Given the description of an element on the screen output the (x, y) to click on. 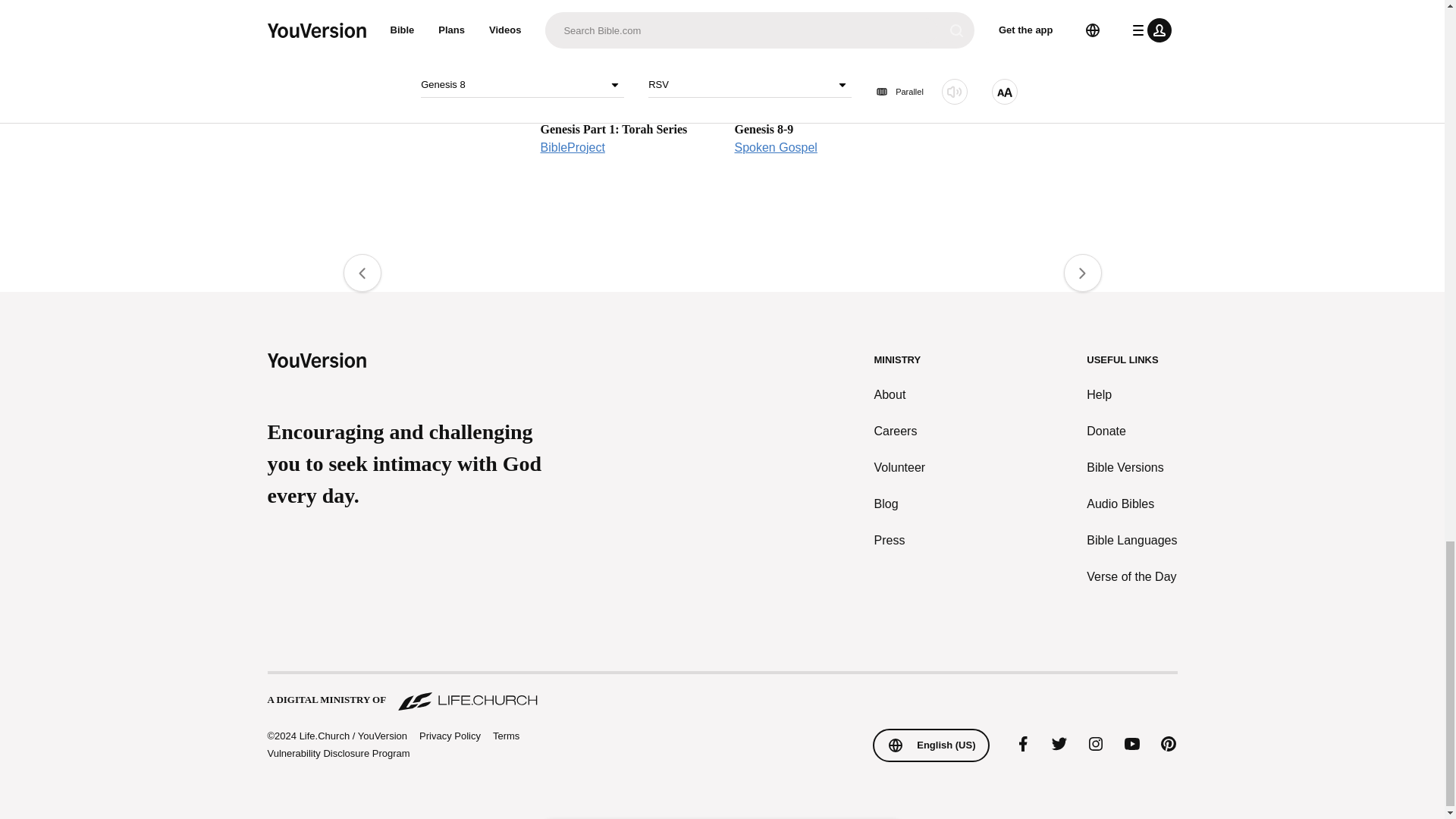
A DIGITAL MINISTRY OF (721, 692)
Blog (900, 504)
Help (625, 87)
Audio Bibles (818, 87)
Bible Versions (1131, 394)
Terms (1131, 504)
Volunteer (1131, 467)
Careers (506, 736)
